Given the description of an element on the screen output the (x, y) to click on. 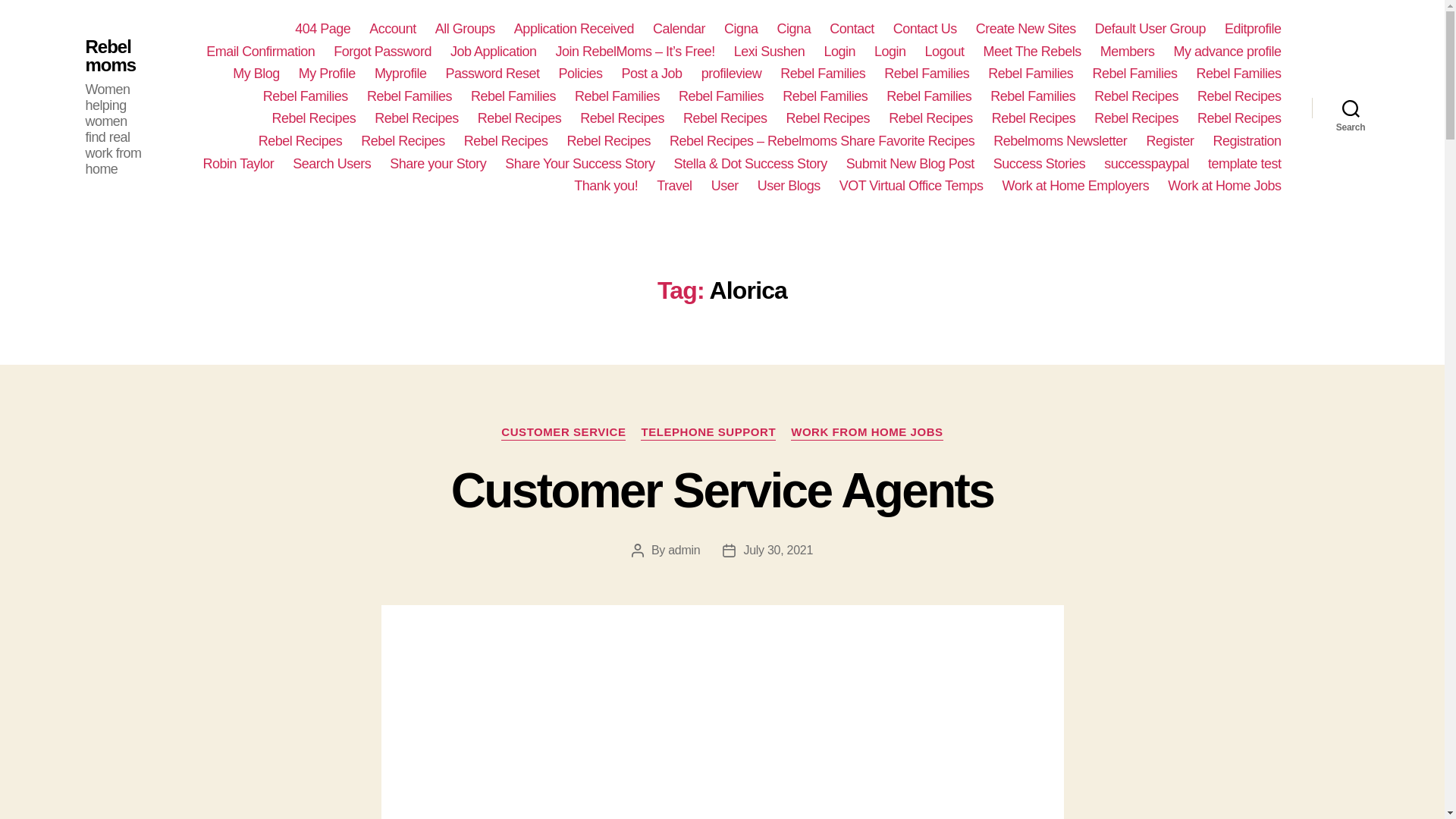
Rebel Families (1238, 74)
Rebel Families (1134, 74)
Password Reset (491, 74)
Rebel Families (305, 96)
Create New Sites (1025, 29)
Rebel Families (822, 74)
Members (1127, 52)
Login (840, 52)
Rebelmoms (112, 55)
profileview (731, 74)
Application Received (573, 29)
My Blog (255, 74)
Lexi Sushen (769, 52)
Rebel Families (1030, 74)
Cigna (793, 29)
